Given the description of an element on the screen output the (x, y) to click on. 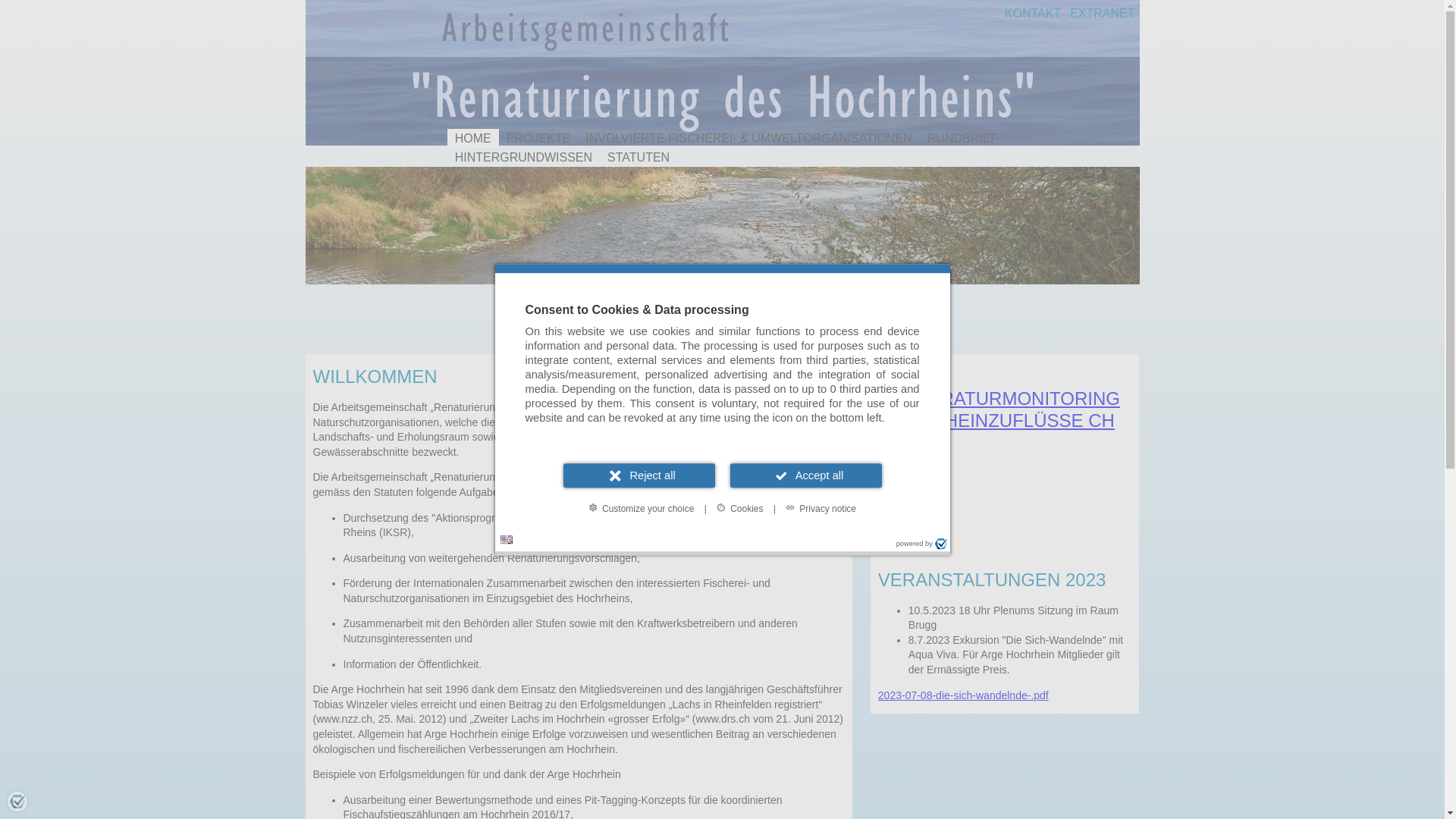
Cookies Element type: text (739, 507)
Language: en Element type: hover (506, 539)
EXTRANET Element type: text (1102, 12)
PROJEKTE Element type: text (537, 138)
HINTERGRUNDWISSEN Element type: text (523, 157)
Privacy settings Element type: hover (17, 801)
STATUTEN Element type: text (638, 157)
Accept all Element type: text (805, 475)
RUNDBRIEF Element type: text (962, 138)
INVOLVIERTE FISCHEREI- & UMWELTORGANISATIONEN Element type: text (748, 138)
Customize your choice Element type: text (640, 507)
Language: en Element type: hover (506, 539)
KONTAKT Element type: text (1032, 12)
Reject all Element type: text (638, 475)
2023-07-08-die-sich-wandelnde-.pdf Element type: text (963, 695)
HOME Element type: text (472, 138)
Privacy notice Element type: text (820, 507)
Arge Hochrhein Element type: hover (721, 72)
